Given the description of an element on the screen output the (x, y) to click on. 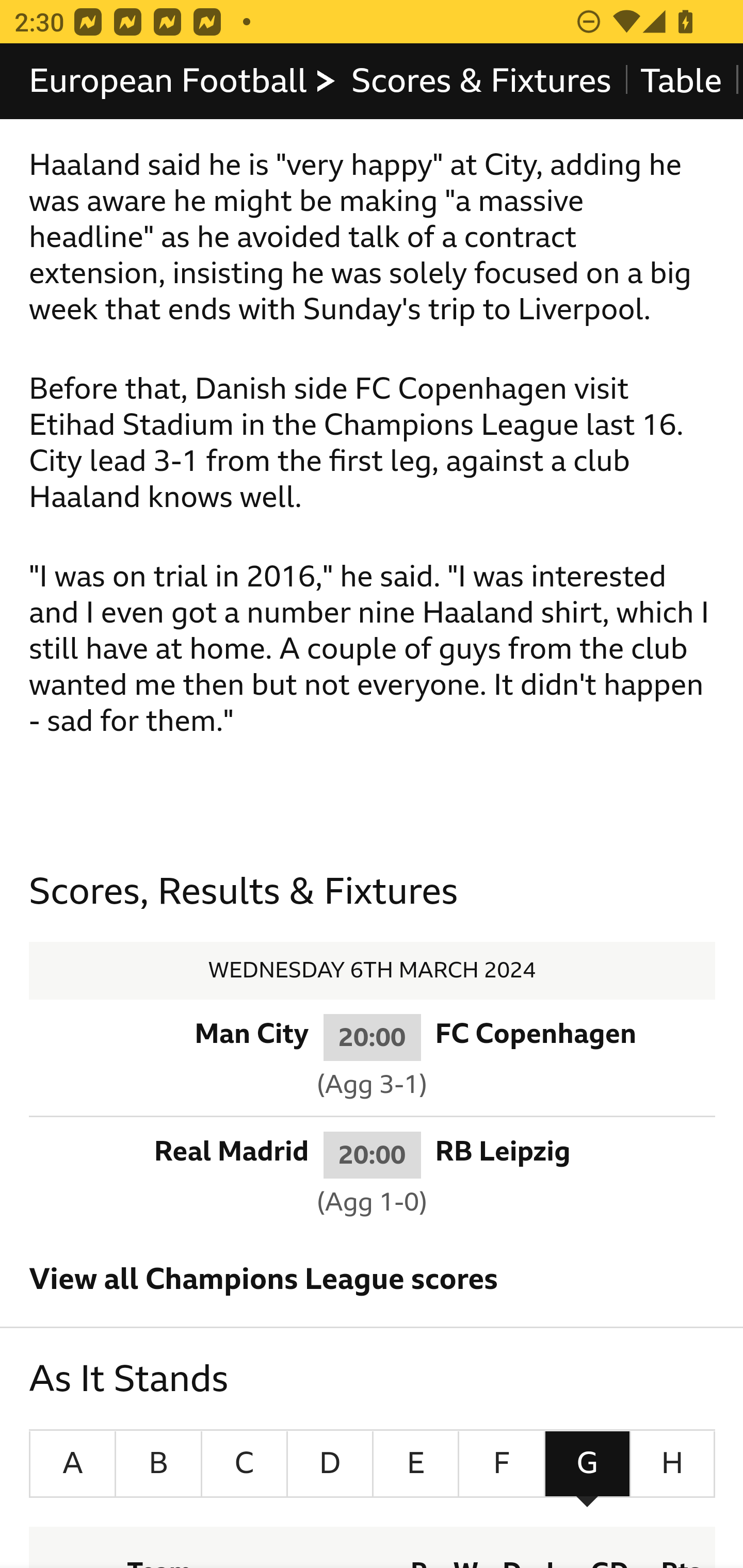
A (71, 1464)
B (158, 1464)
C (244, 1464)
D (329, 1464)
E (415, 1464)
F (501, 1464)
G (587, 1464)
H (672, 1464)
